Given the description of an element on the screen output the (x, y) to click on. 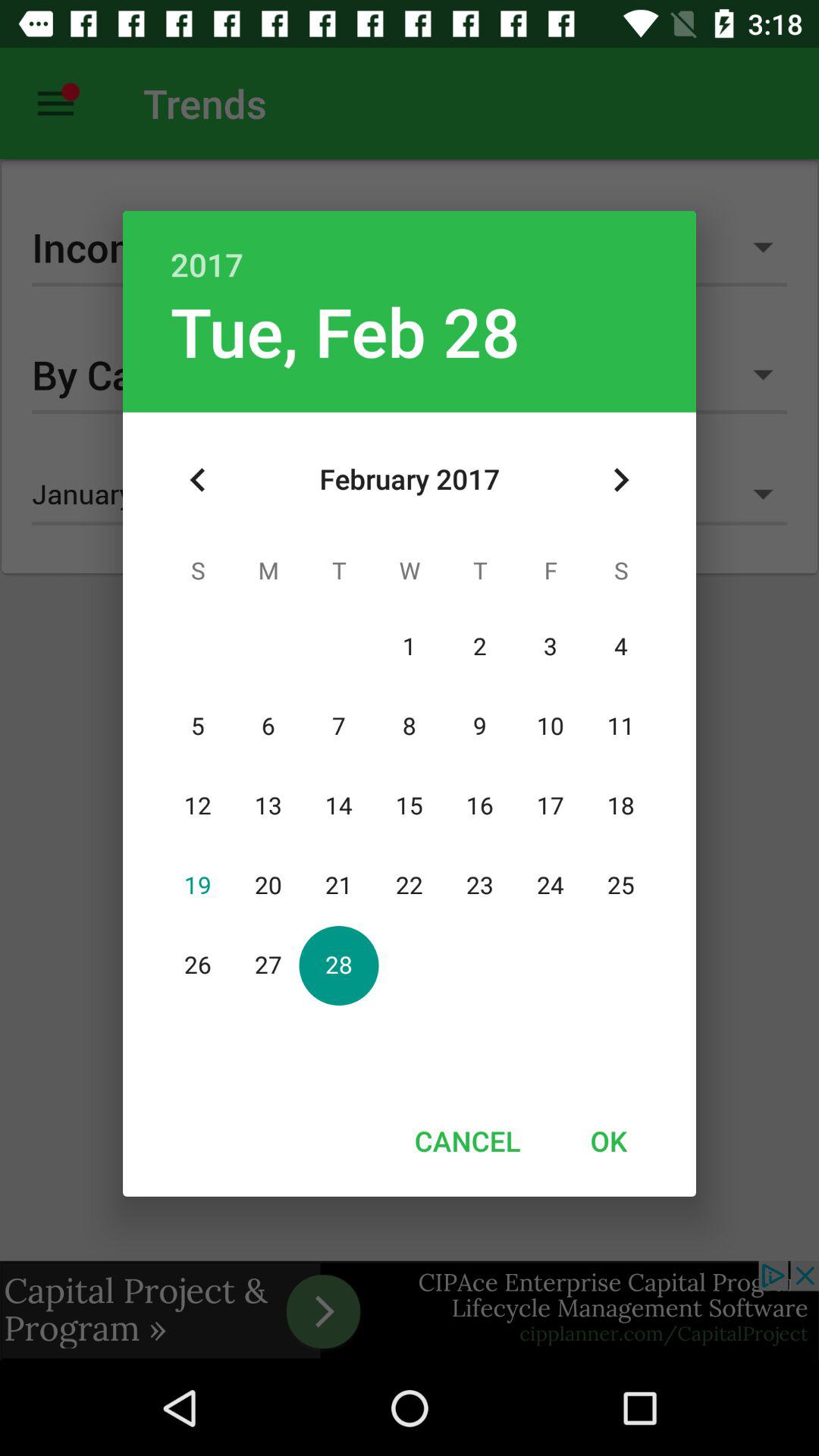
turn off the icon above the ok icon (620, 479)
